Given the description of an element on the screen output the (x, y) to click on. 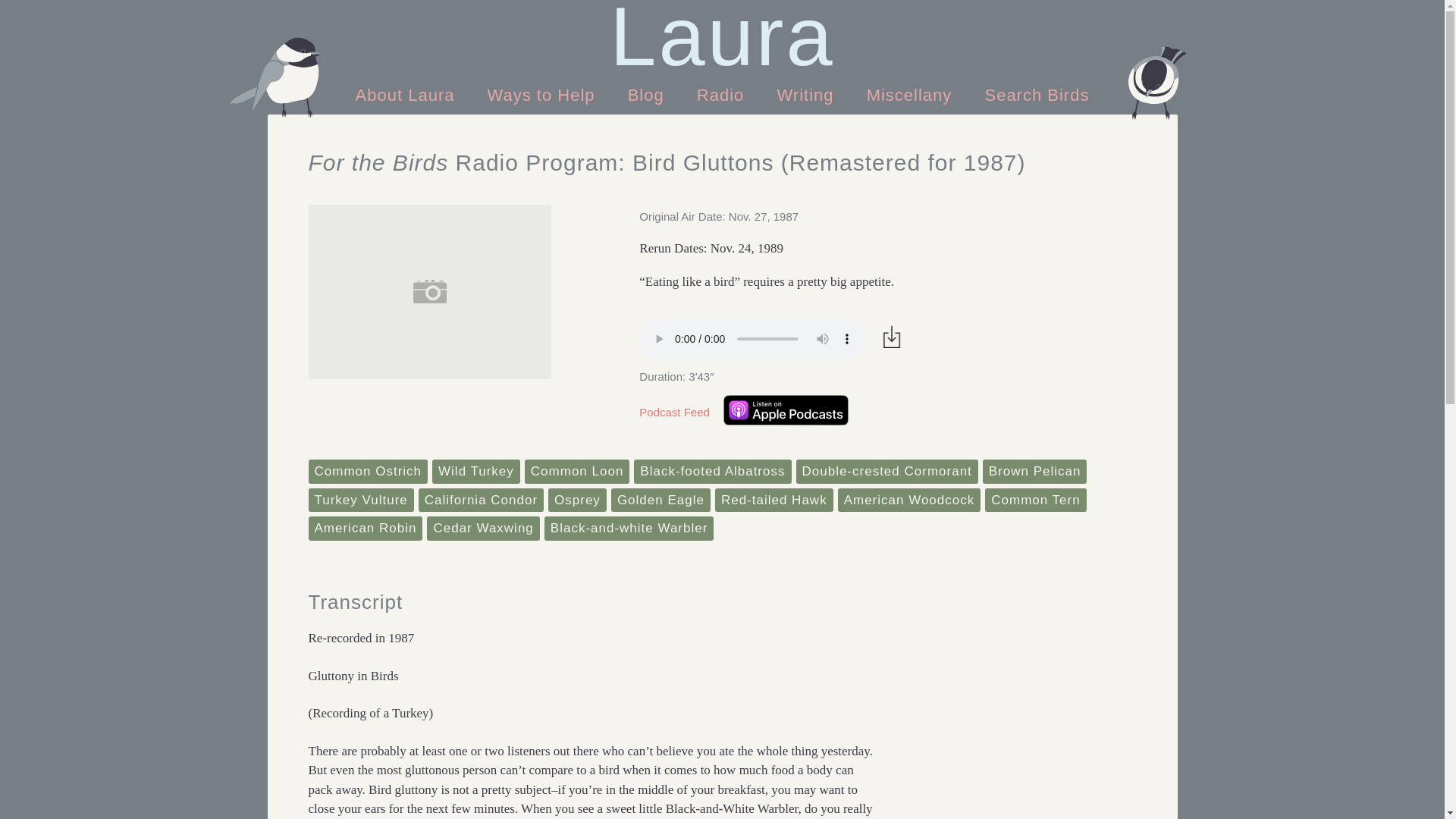
Osprey (577, 500)
Radio (722, 94)
American Woodcock (909, 500)
Podcast Feed (674, 411)
California Condor (481, 500)
Black-and-white Warbler (629, 528)
Brown Pelican (1034, 471)
Laura Erickson's For the Birds (721, 36)
Double-crested Cormorant (887, 471)
Turkey Vulture (360, 500)
